Given the description of an element on the screen output the (x, y) to click on. 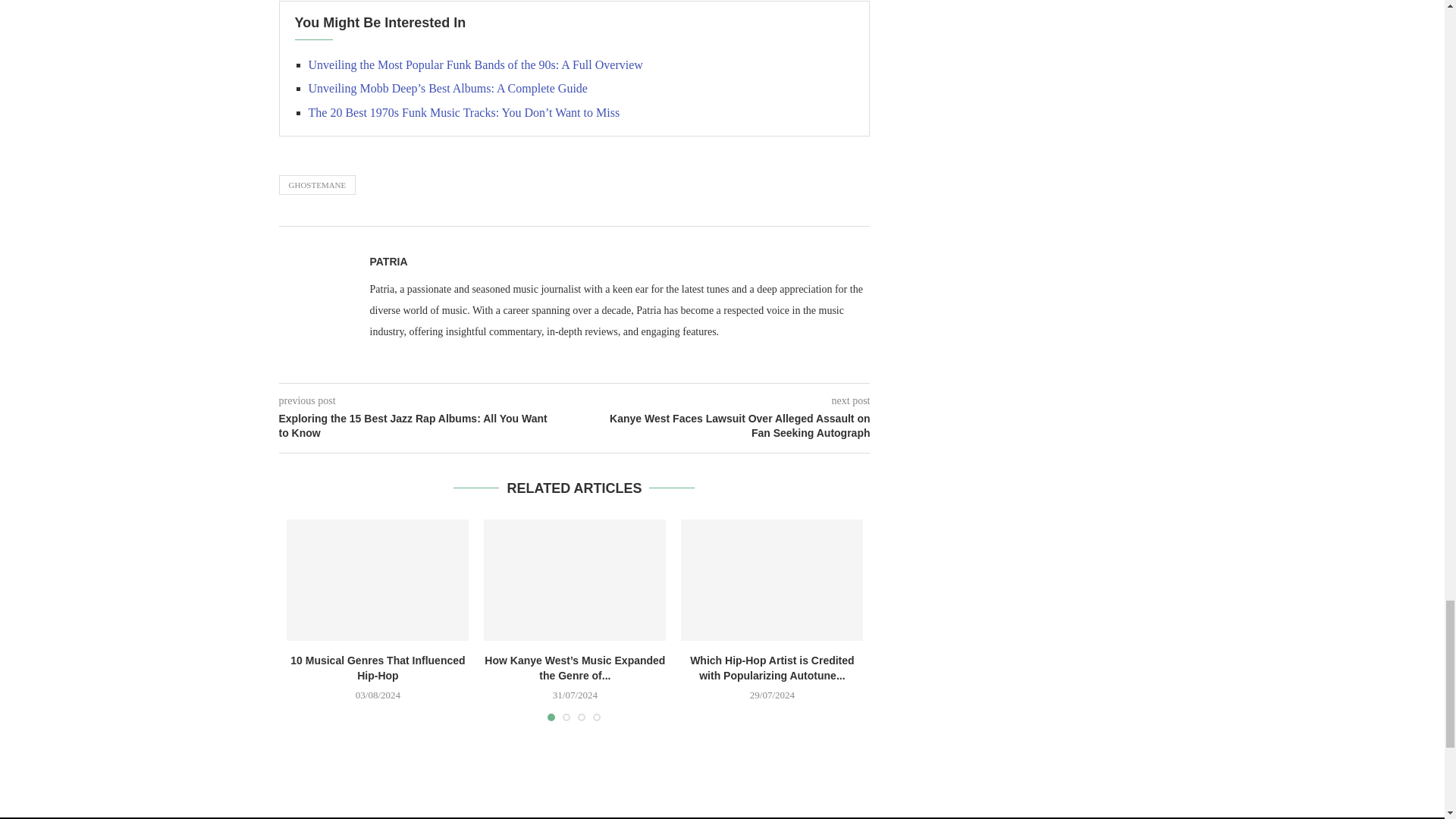
Author Patria (388, 261)
10 Musical Genres That Influenced Hip-Hop (377, 579)
